Given the description of an element on the screen output the (x, y) to click on. 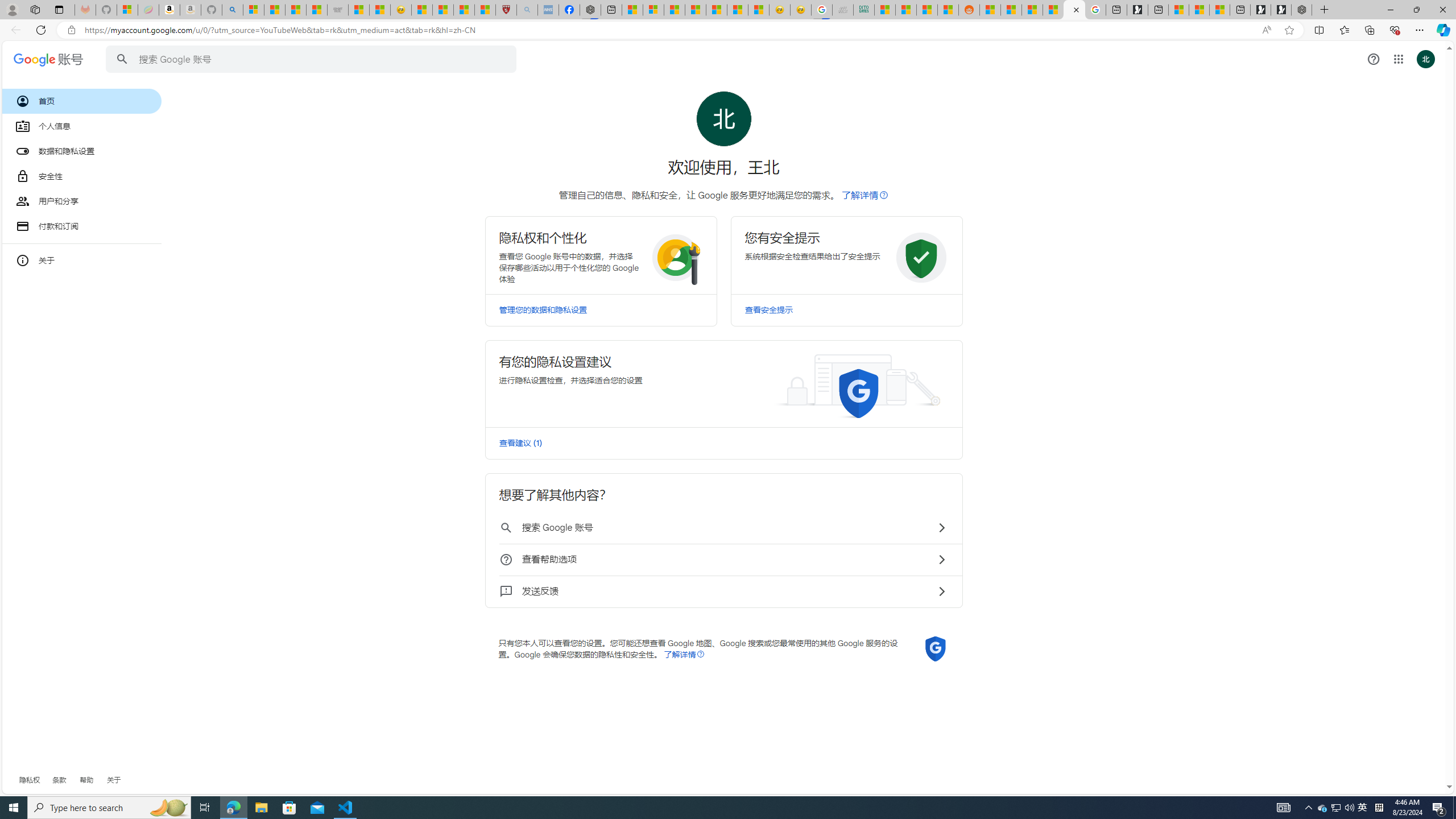
14 Common Myths Debunked By Scientific Facts (694, 9)
These 3 Stocks Pay You More Than 5% to Own Them (1219, 9)
